Given the description of an element on the screen output the (x, y) to click on. 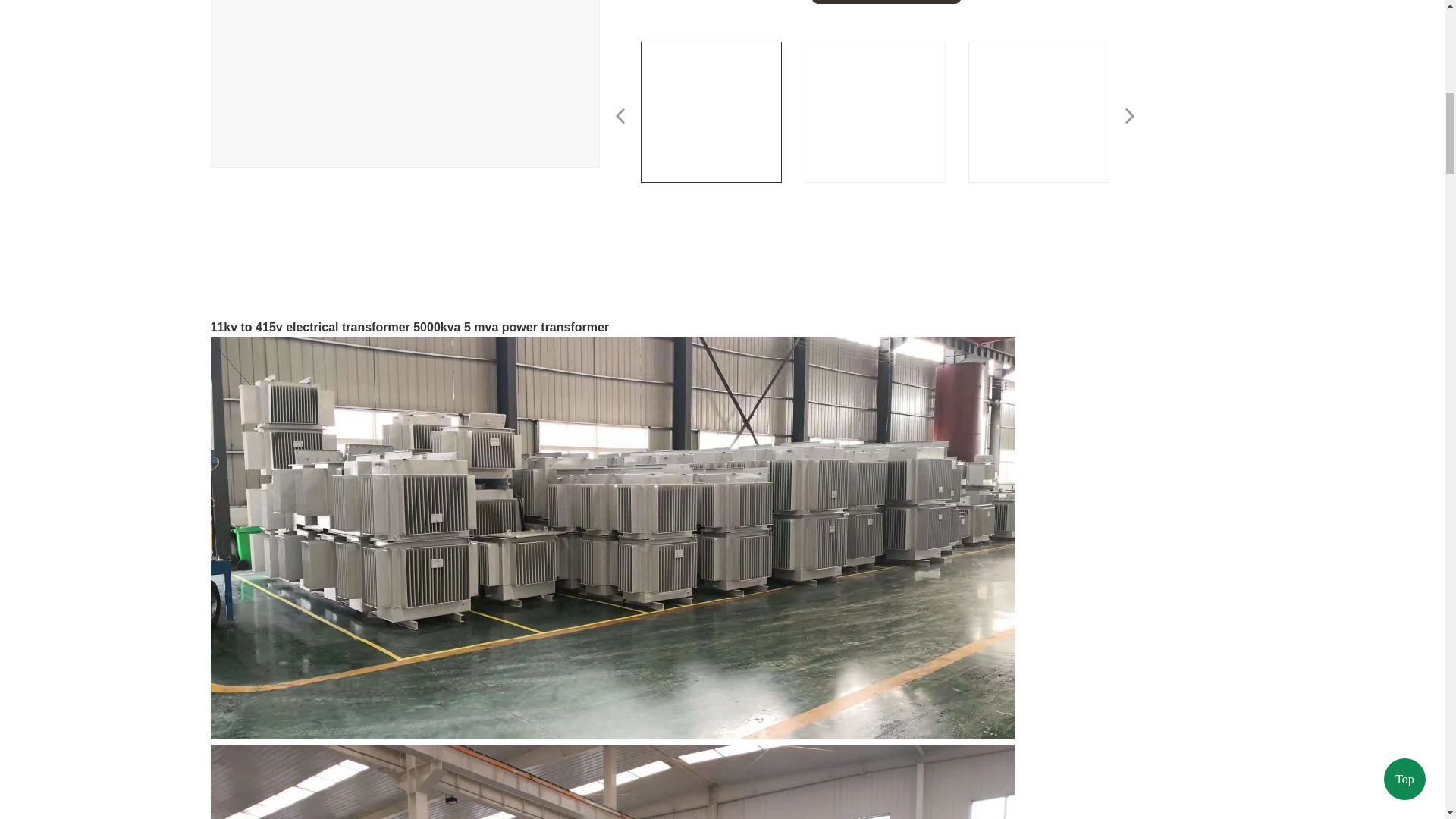
SEND EMAIL TO US (885, 2)
